Given the description of an element on the screen output the (x, y) to click on. 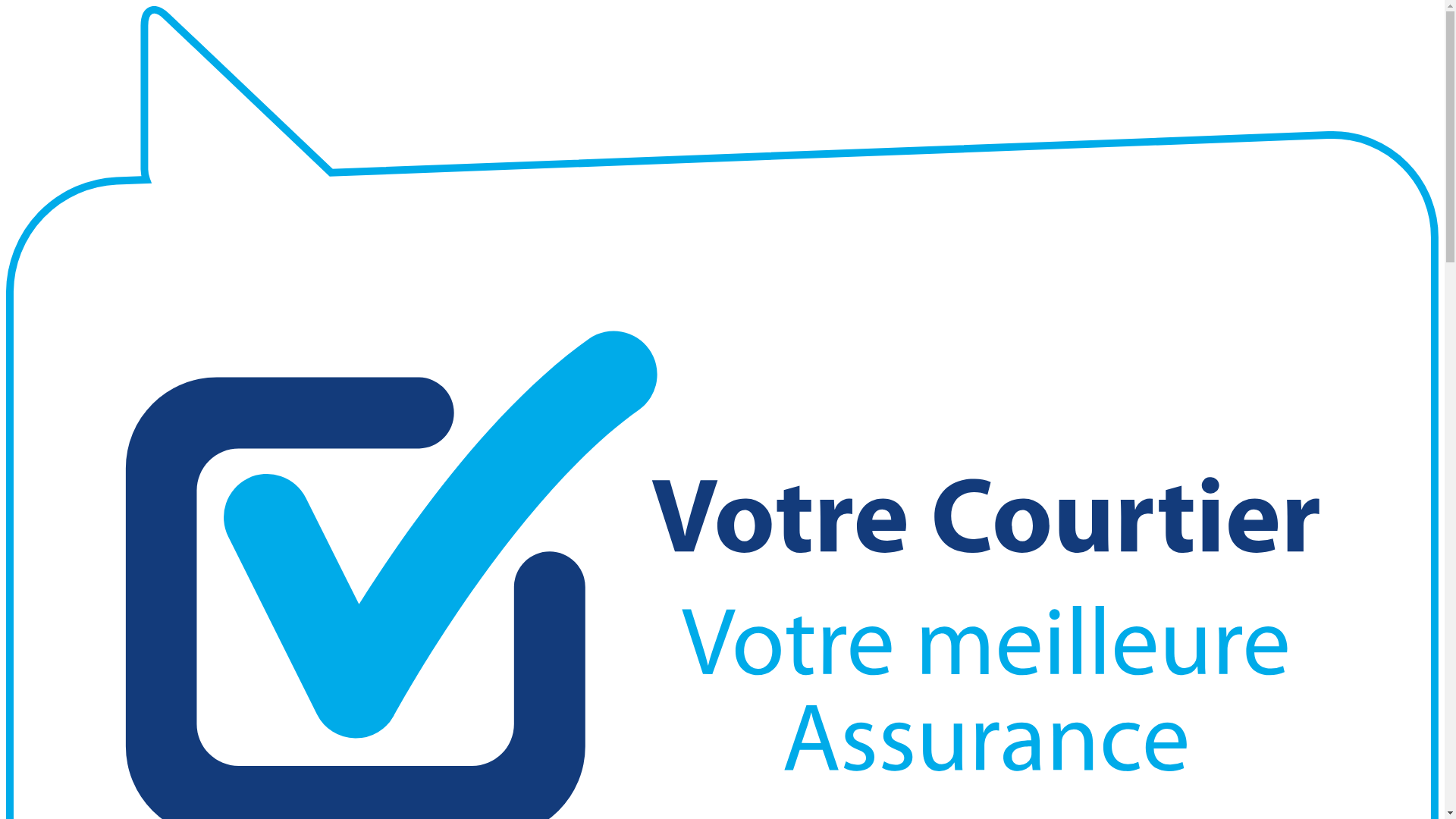
Aller au contenu principal Element type: text (6, 6)
